Given the description of an element on the screen output the (x, y) to click on. 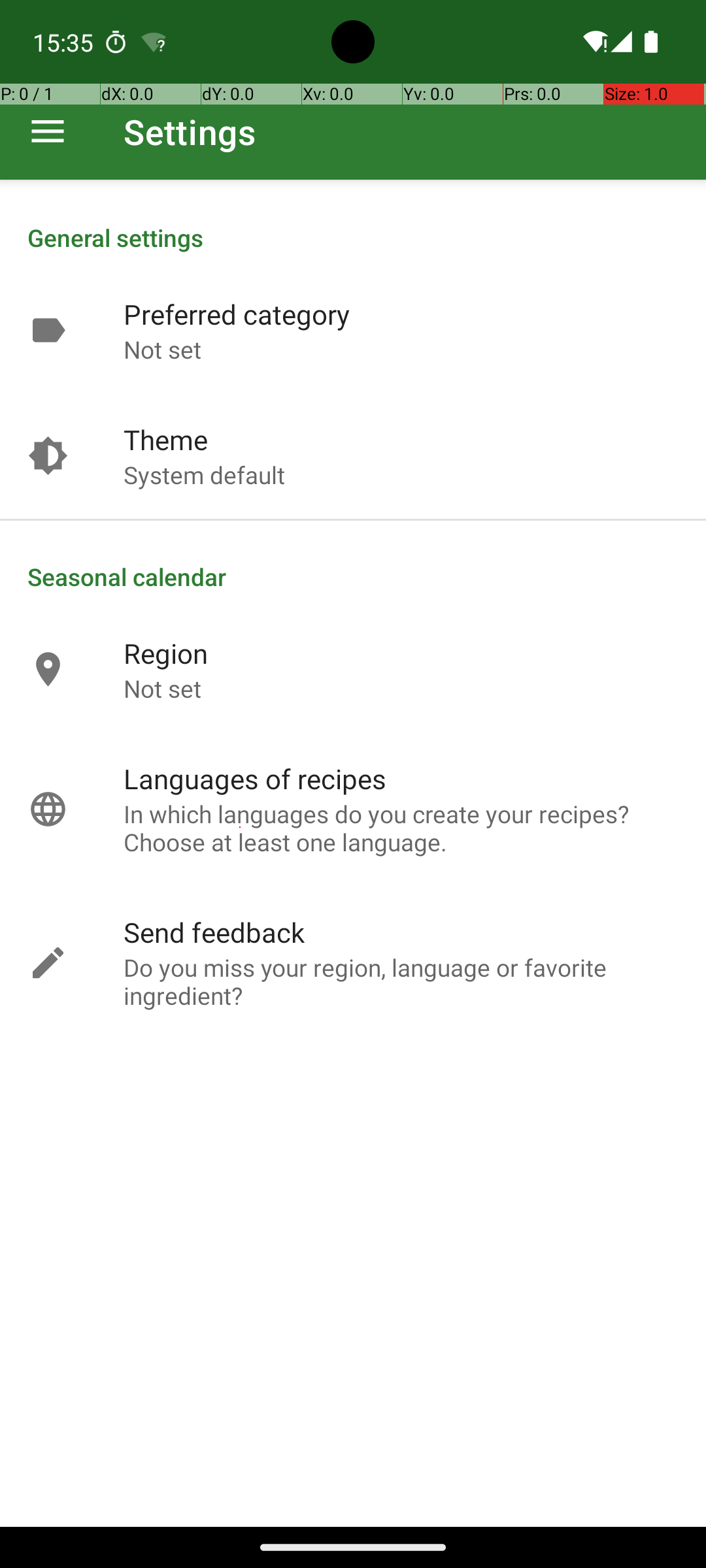
General settings Element type: android.widget.TextView (352, 237)
Preferred category Element type: android.widget.TextView (236, 313)
Not set Element type: android.widget.TextView (162, 348)
Region Element type: android.widget.TextView (165, 652)
Languages of recipes Element type: android.widget.TextView (254, 778)
In which languages do you create your recipes? Choose at least one language. Element type: android.widget.TextView (400, 827)
Do you miss your region, language or favorite ingredient? Element type: android.widget.TextView (400, 981)
